Given the description of an element on the screen output the (x, y) to click on. 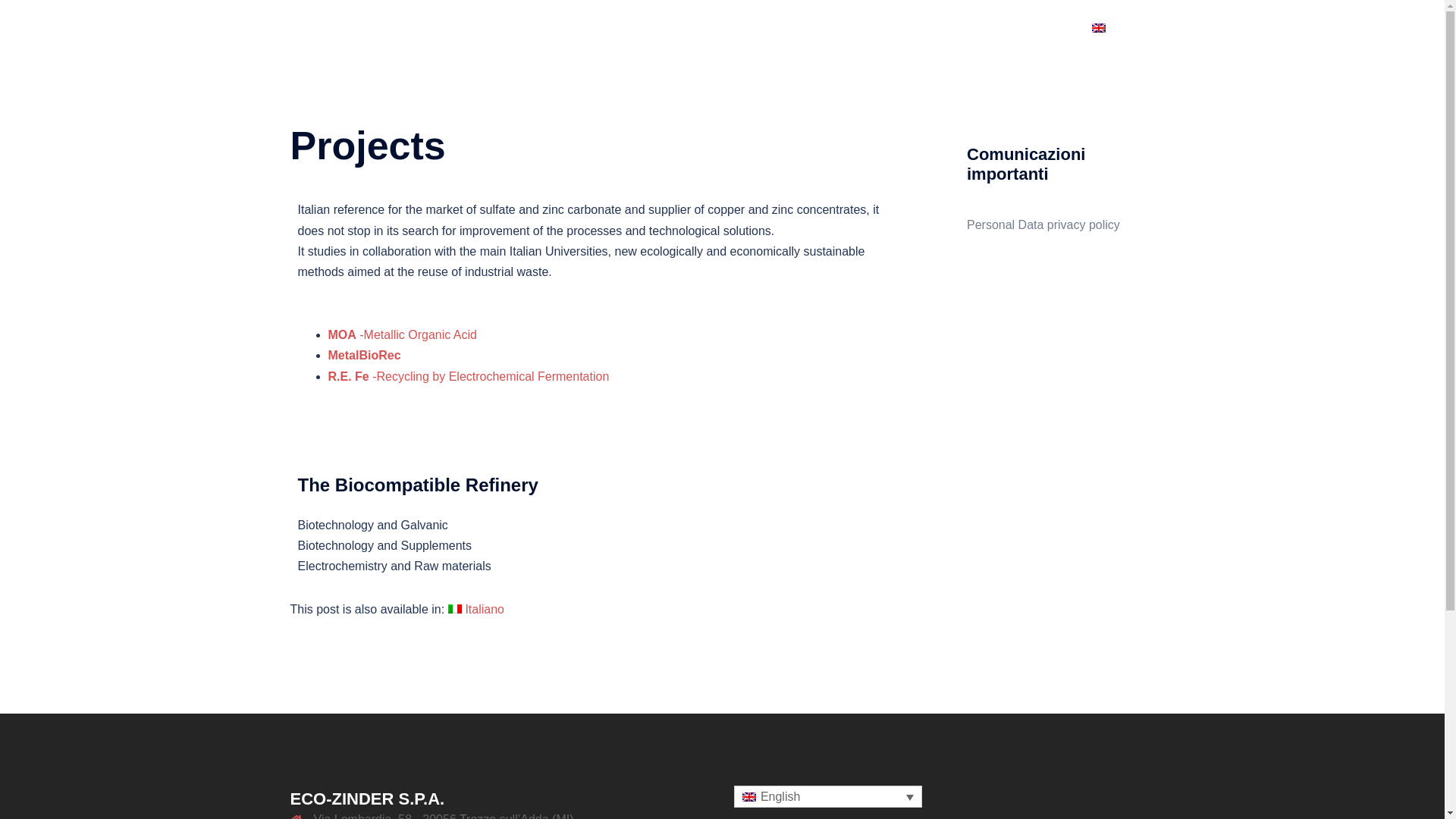
English (827, 796)
Italiano (475, 609)
news (1058, 29)
contacts (1005, 29)
home (692, 29)
English (1117, 29)
R.E. Fe -Recycling by Electrochemical Fermentation (467, 376)
Italiano (454, 608)
MetalBioRec (363, 354)
ECO-ZINDER S.p.A. (402, 29)
Personal Data privacy policy (1042, 224)
English (748, 796)
English (1117, 29)
environment (934, 29)
English (1098, 27)
